Given the description of an element on the screen output the (x, y) to click on. 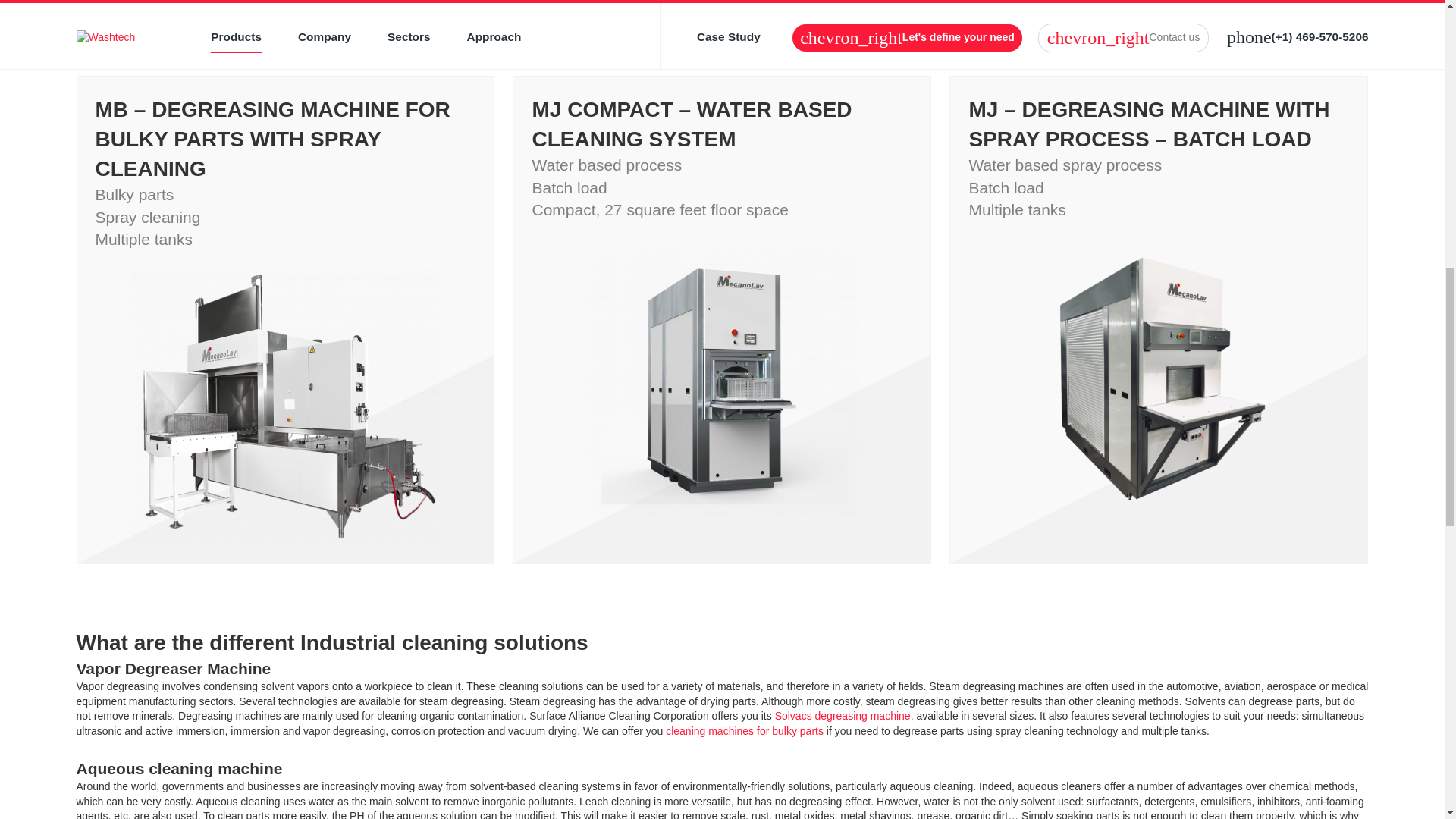
cleaning machines for bulky parts (744, 730)
Solvacs degreasing machine (842, 715)
